Given the description of an element on the screen output the (x, y) to click on. 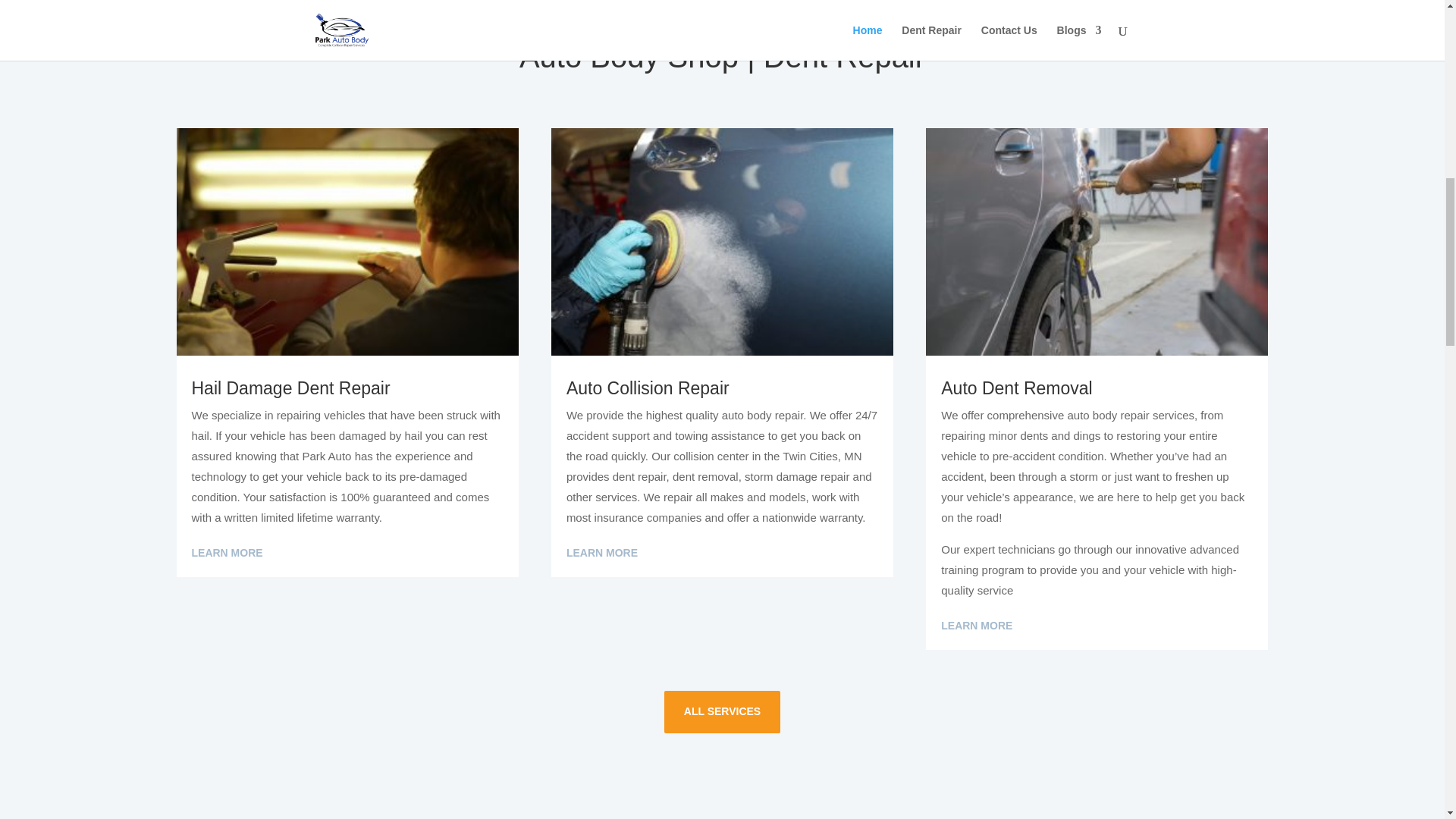
LEARN MORE (226, 553)
LEARN MORE (601, 553)
LEARN MORE (975, 626)
ALL SERVICES (721, 712)
